Given the description of an element on the screen output the (x, y) to click on. 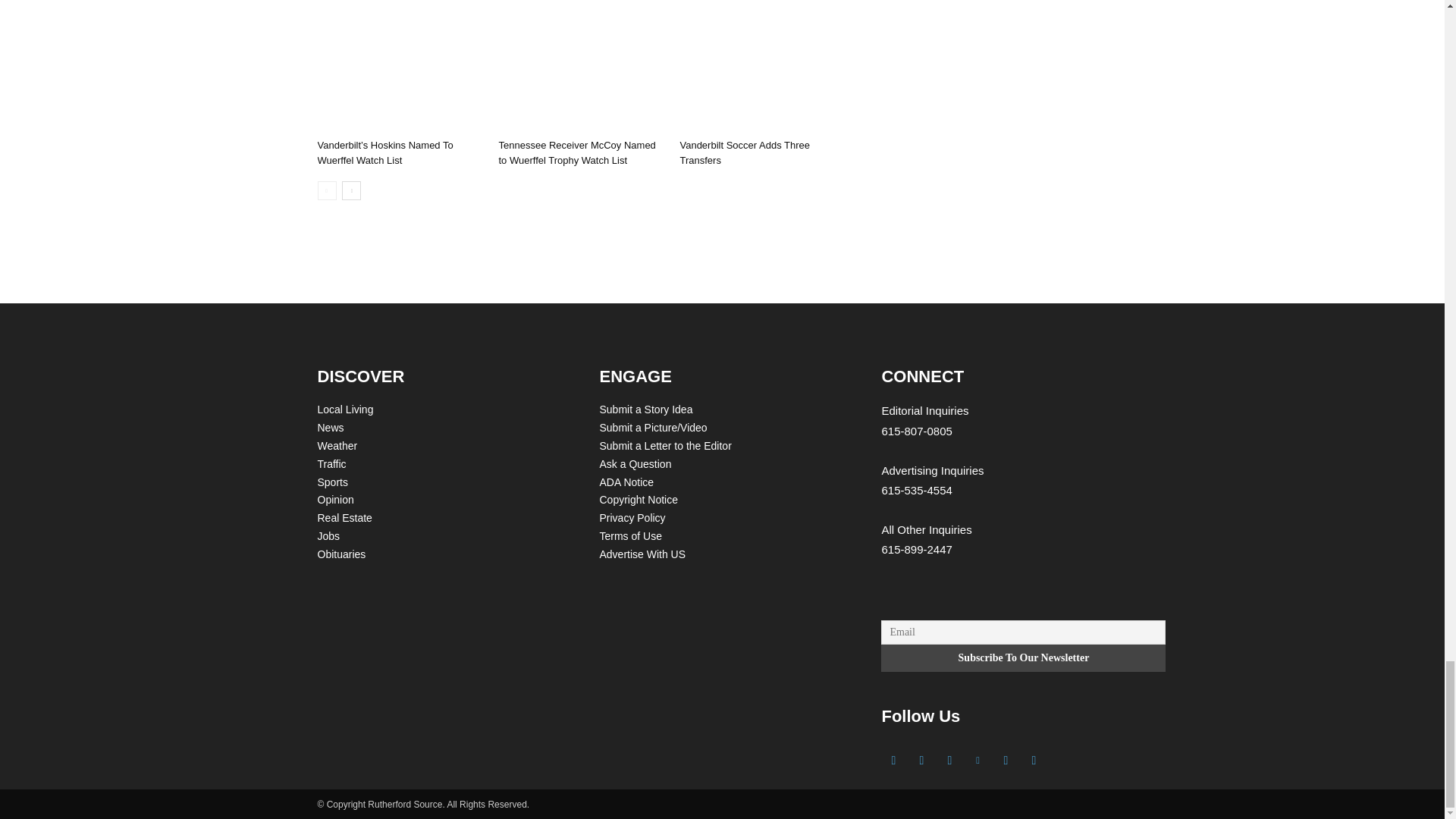
Subscribe To Our Newsletter (1023, 657)
